Given the description of an element on the screen output the (x, y) to click on. 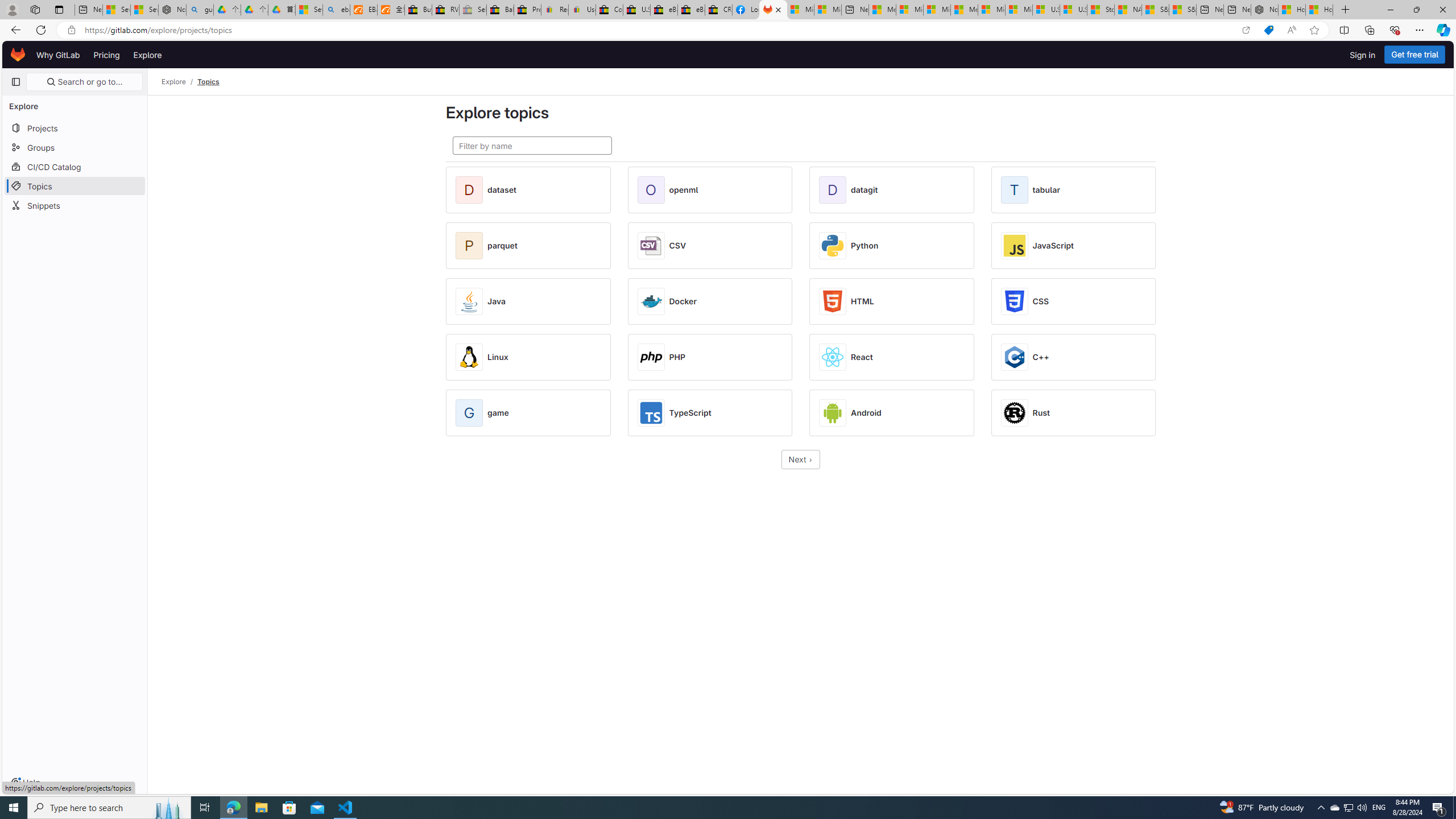
Help (25, 782)
Get free trial (1414, 54)
Open in app (1245, 29)
Log into Facebook (746, 9)
guge yunpan - Search (200, 9)
User Privacy Notice | eBay (581, 9)
P (471, 245)
game (498, 412)
